Given the description of an element on the screen output the (x, y) to click on. 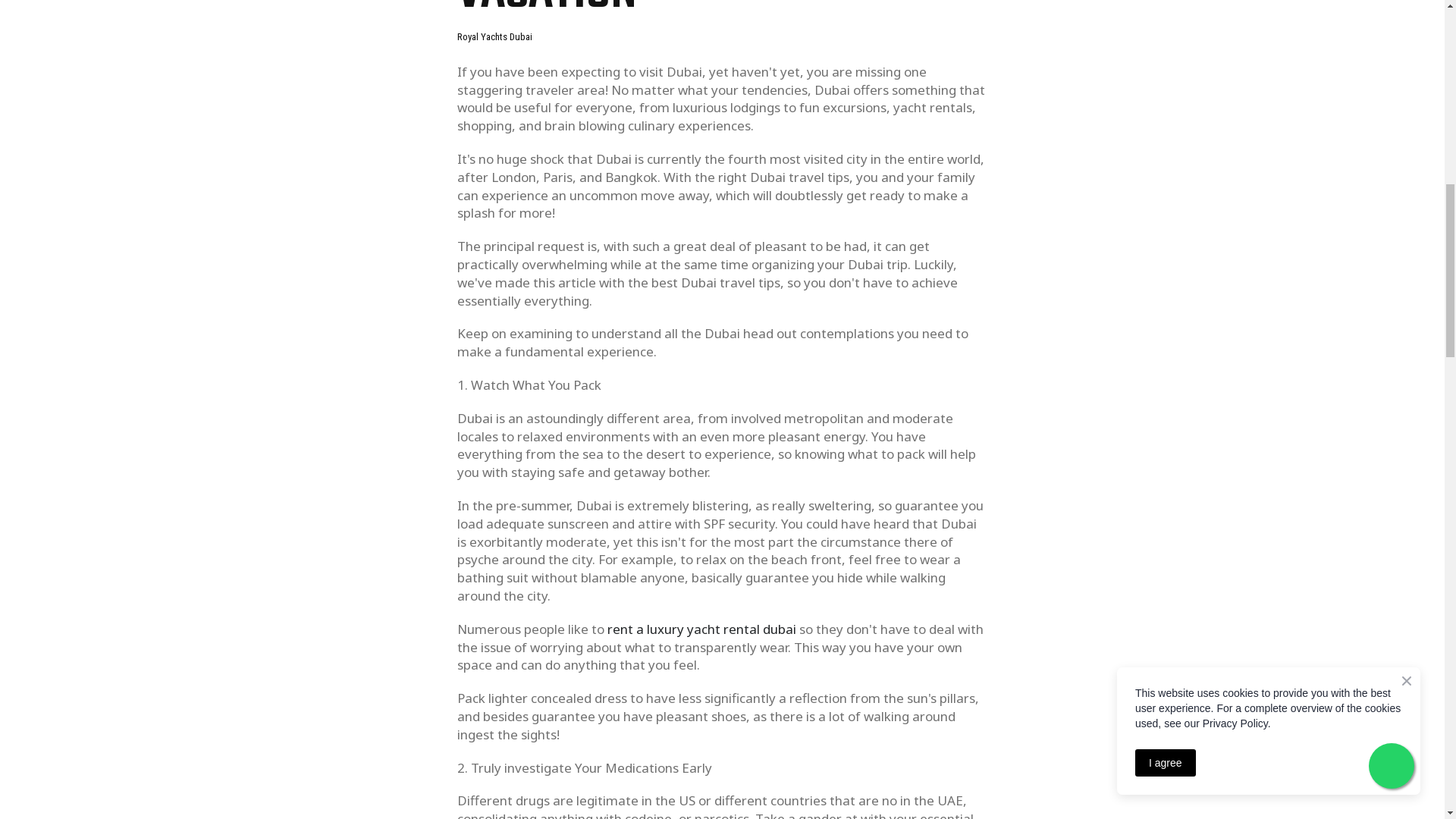
rent a luxury yacht rental dubai (700, 628)
